Given the description of an element on the screen output the (x, y) to click on. 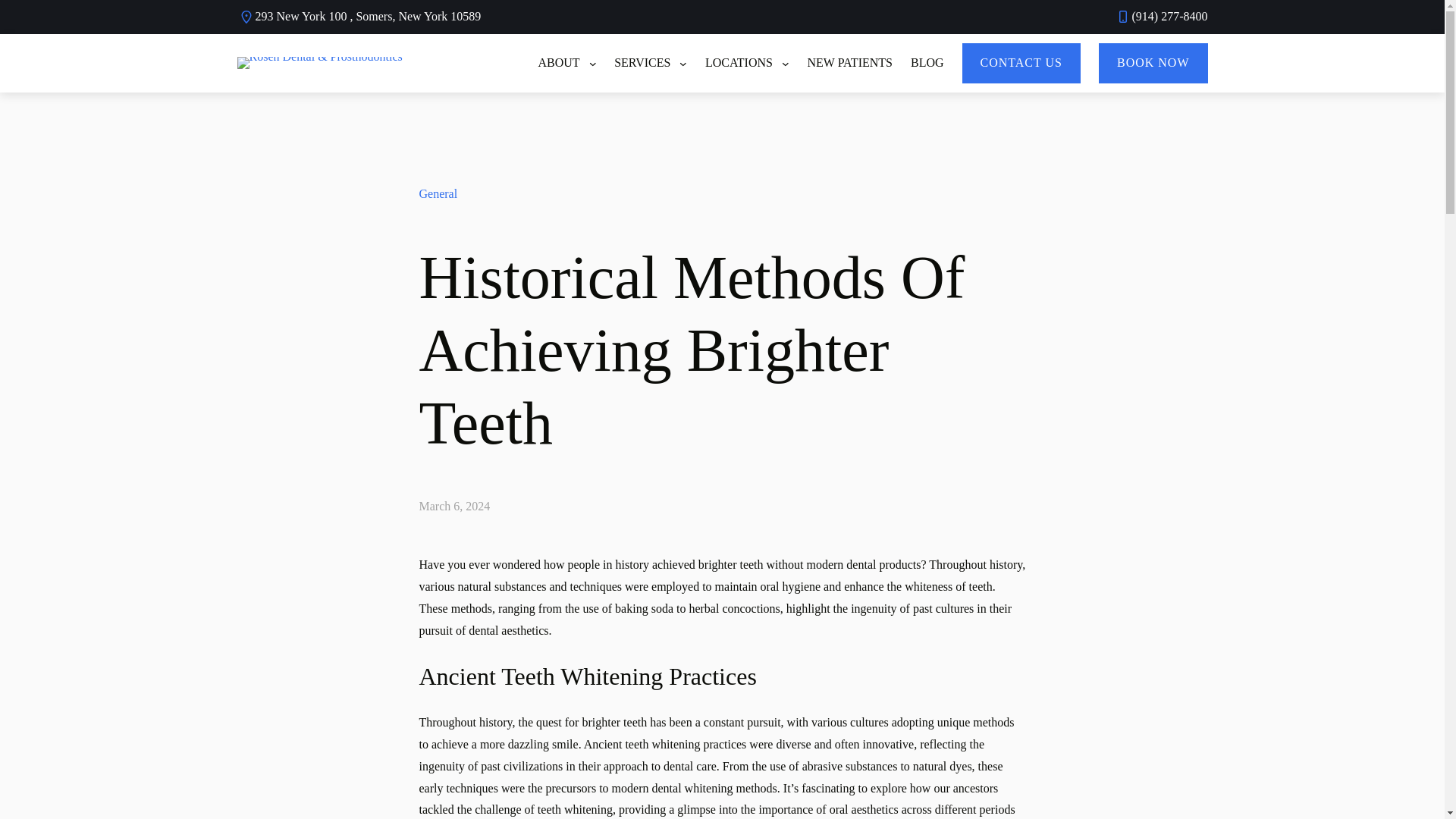
SERVICES (645, 63)
293 New York 100 , Somers, New York 10589 (367, 15)
ABOUT (561, 63)
